Given the description of an element on the screen output the (x, y) to click on. 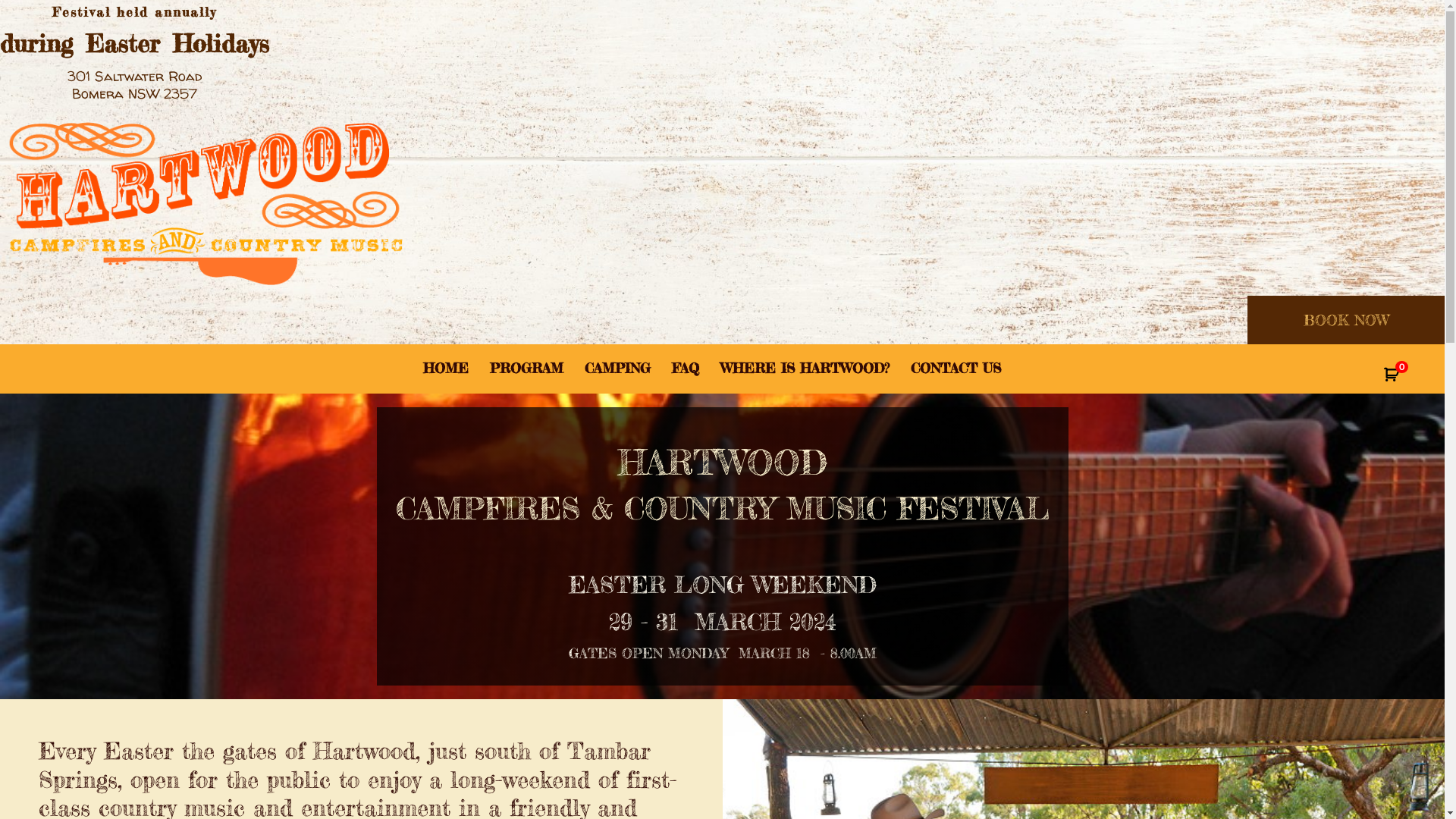
CAMPING Element type: text (617, 367)
BOOK NOW Element type: text (1345, 319)
FAQ Element type: text (685, 367)
WHERE IS HARTWOOD? Element type: text (804, 367)
et Element type: text (1408, 375)
PROGRAM Element type: text (526, 367)
CONTACT US Element type: text (955, 367)
HOME Element type: text (445, 367)
